Given the description of an element on the screen output the (x, y) to click on. 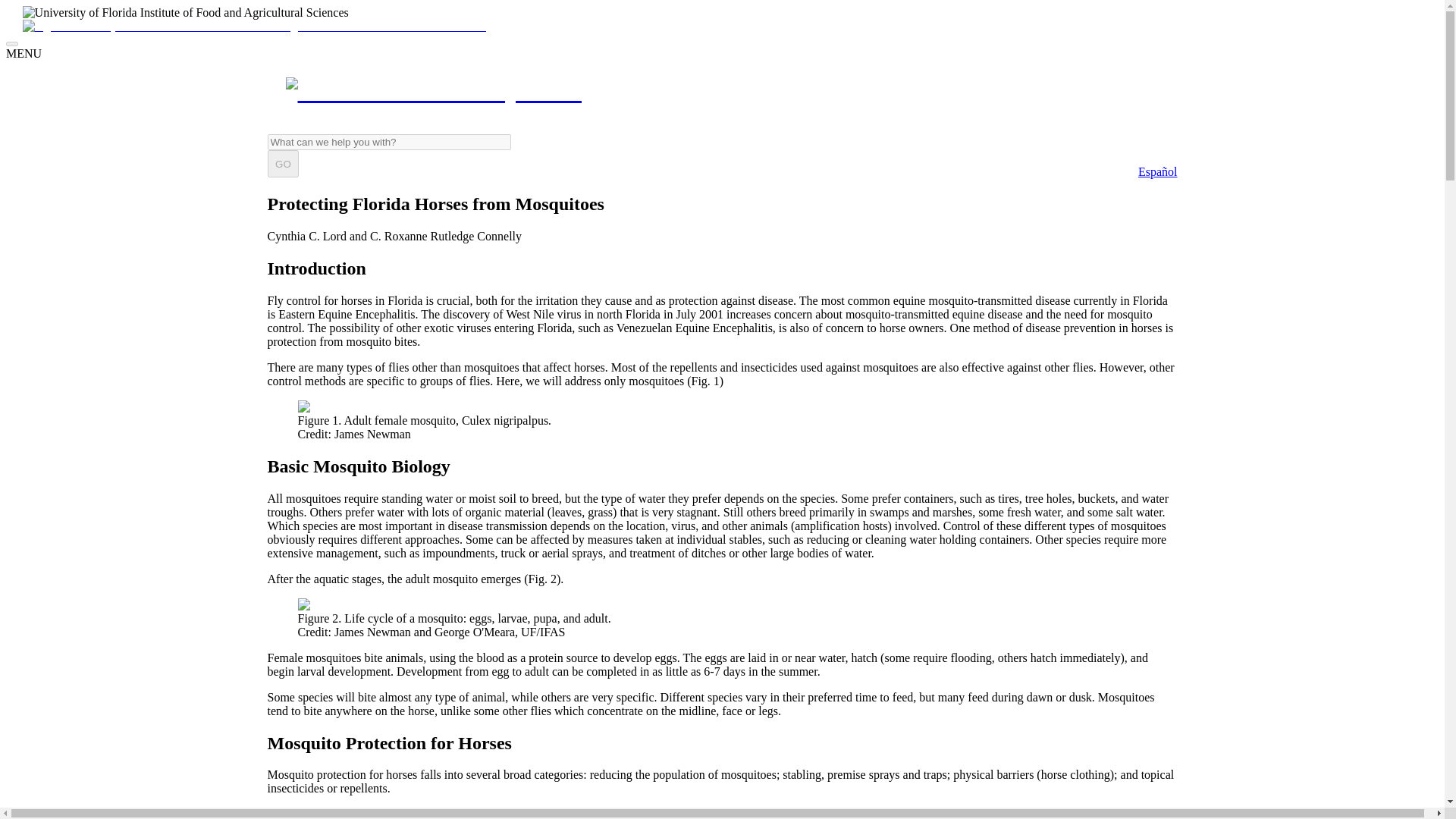
GO (282, 163)
AskIFAS Powered by EDIS (432, 90)
AskIFAS Powered by EDIS (721, 90)
GO (282, 163)
EDIS Search (388, 141)
